Given the description of an element on the screen output the (x, y) to click on. 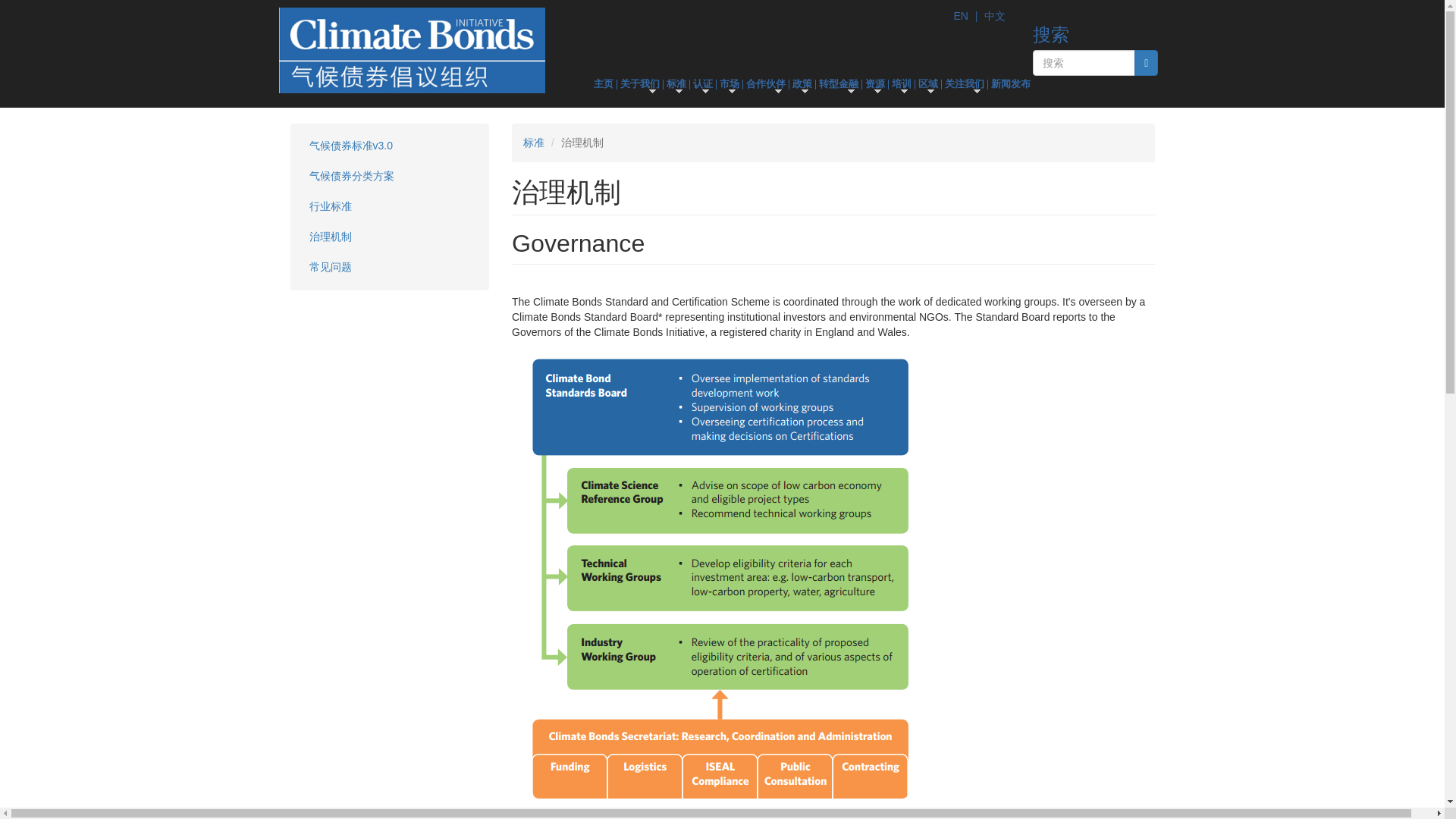
EN (960, 15)
